Given the description of an element on the screen output the (x, y) to click on. 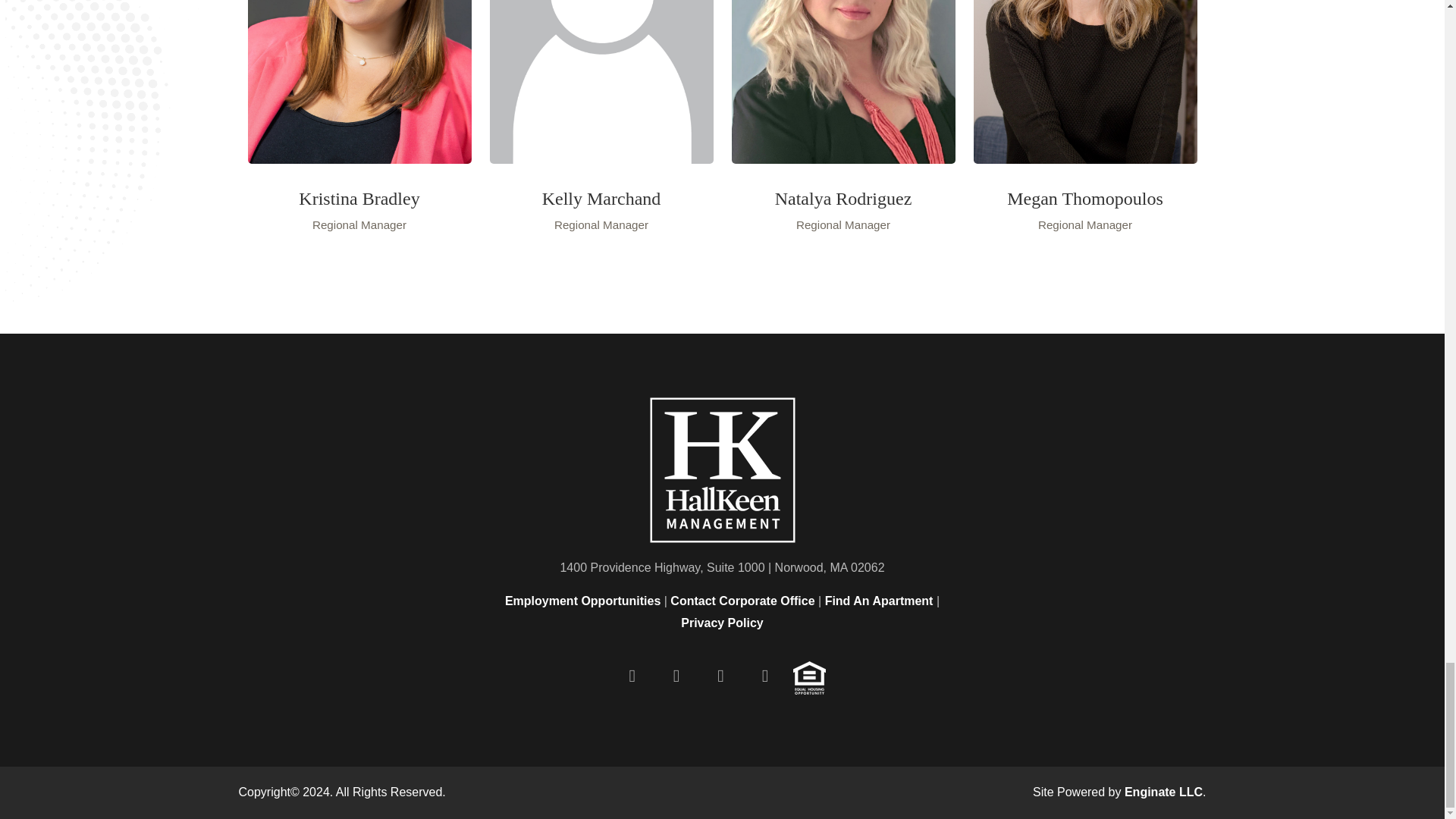
LinkedIn (720, 675)
Facebook (631, 675)
Twiter (676, 675)
Equal Housing Opportunity Logo (809, 675)
Enginate - Customized Digital Experiences (1163, 791)
Instagram (764, 675)
